Given the description of an element on the screen output the (x, y) to click on. 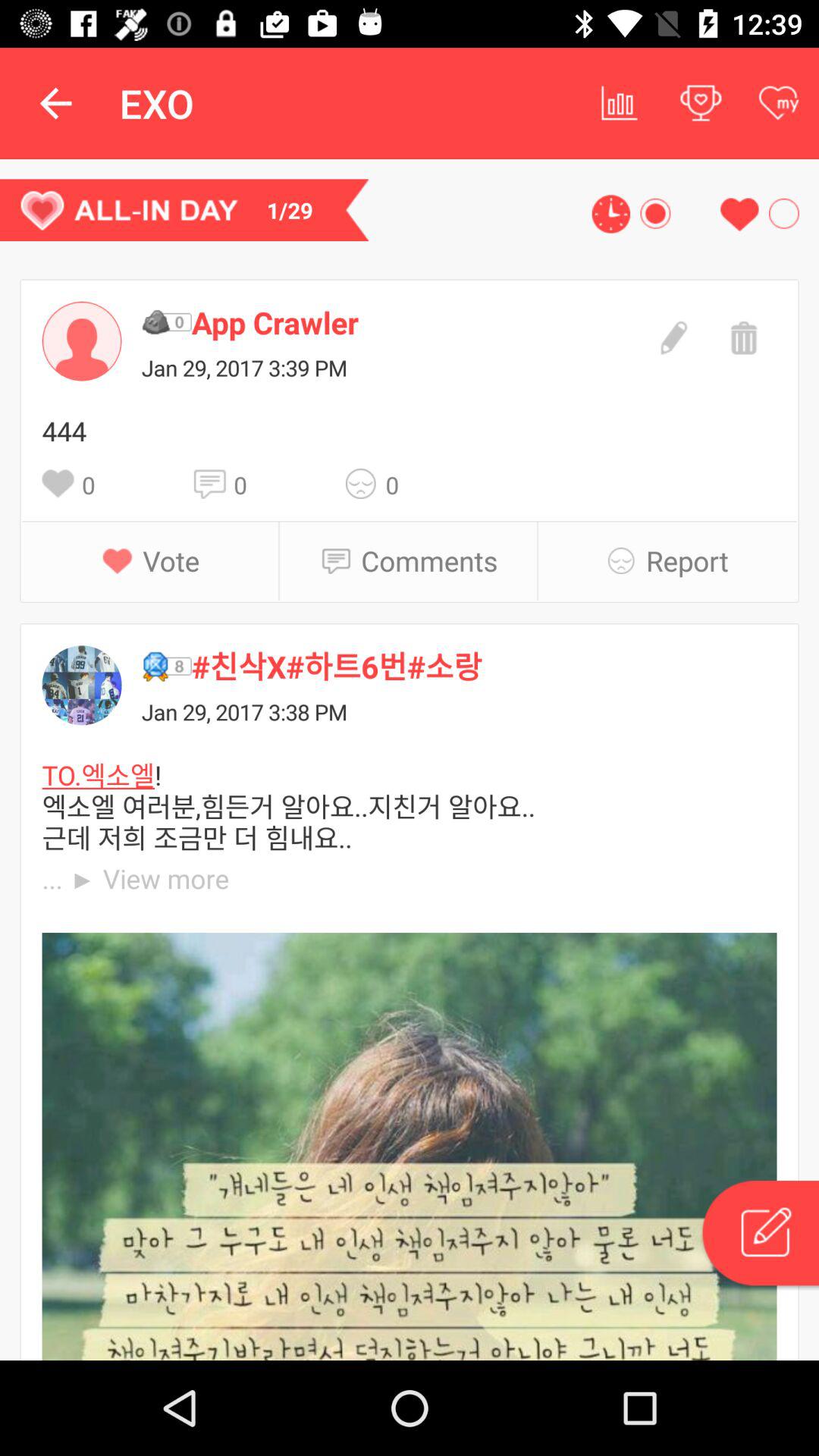
select the icon next to 0 icon (365, 483)
